Given the description of an element on the screen output the (x, y) to click on. 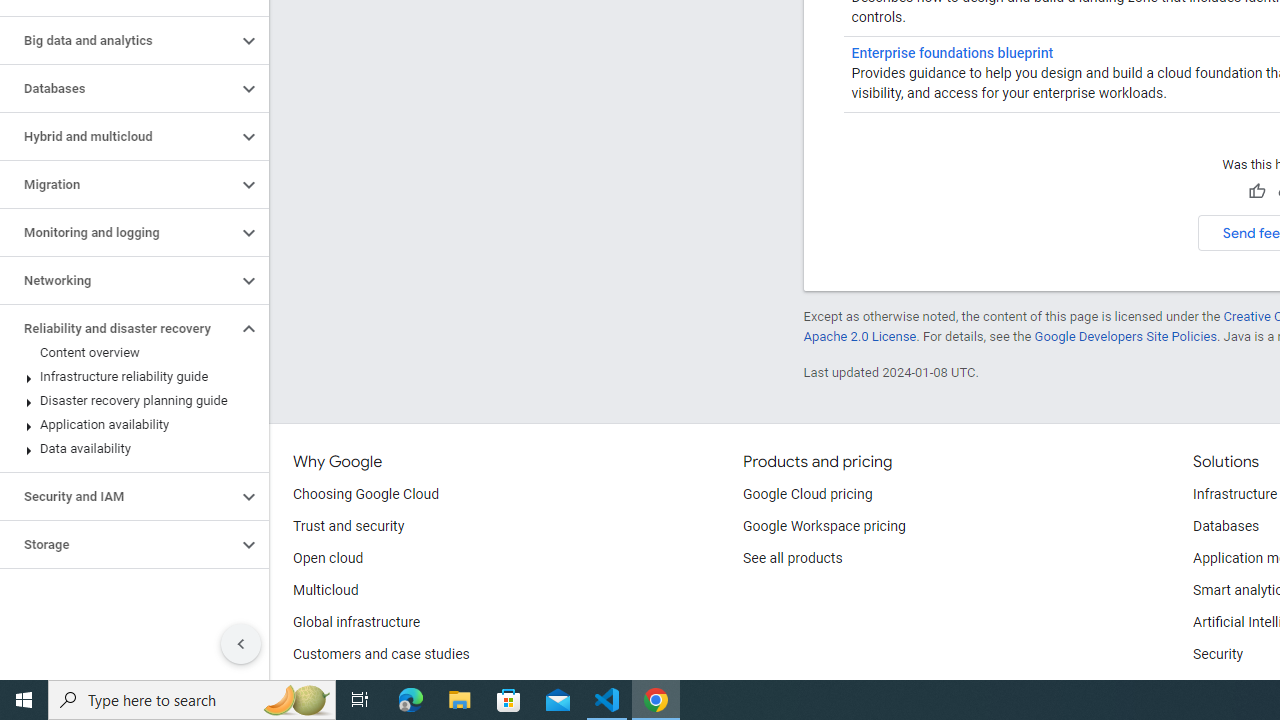
Google Developers Site Policies (1125, 336)
Apache 2.0 License (859, 336)
Multicloud (325, 590)
Enterprise foundations blueprint (952, 52)
Trust and security (348, 526)
Monitoring and logging (118, 232)
Networking (118, 281)
Databases (1225, 526)
Choosing Google Cloud (366, 494)
Google Cloud pricing (807, 494)
Open cloud (328, 558)
Reliability and disaster recovery (118, 328)
Helpful (1256, 192)
Global infrastructure (357, 622)
Infrastructure reliability guide (130, 376)
